Given the description of an element on the screen output the (x, y) to click on. 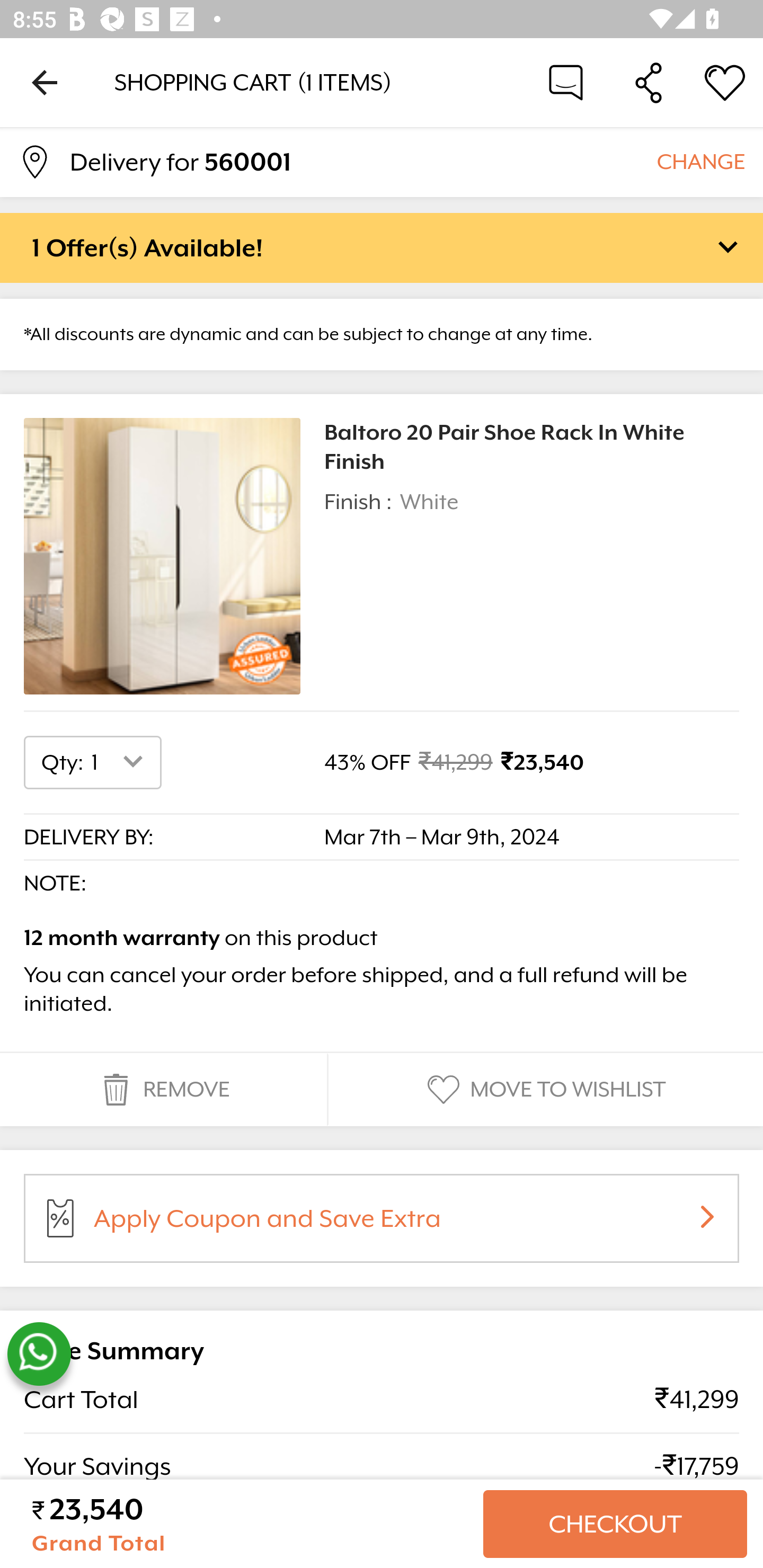
Navigate up (44, 82)
Chat (565, 81)
Share Cart (648, 81)
Wishlist (724, 81)
CHANGE (700, 161)
1 Offer(s) Available! (381, 247)
1 (121, 761)
REMOVE (163, 1089)
MOVE TO WISHLIST (544, 1089)
Apply Coupon and Save Extra (402, 1224)
whatsapp (38, 1353)
₹ 23,540 Grand Total (250, 1523)
CHECKOUT (614, 1523)
VIEW DETAILS (95, 1513)
